Given the description of an element on the screen output the (x, y) to click on. 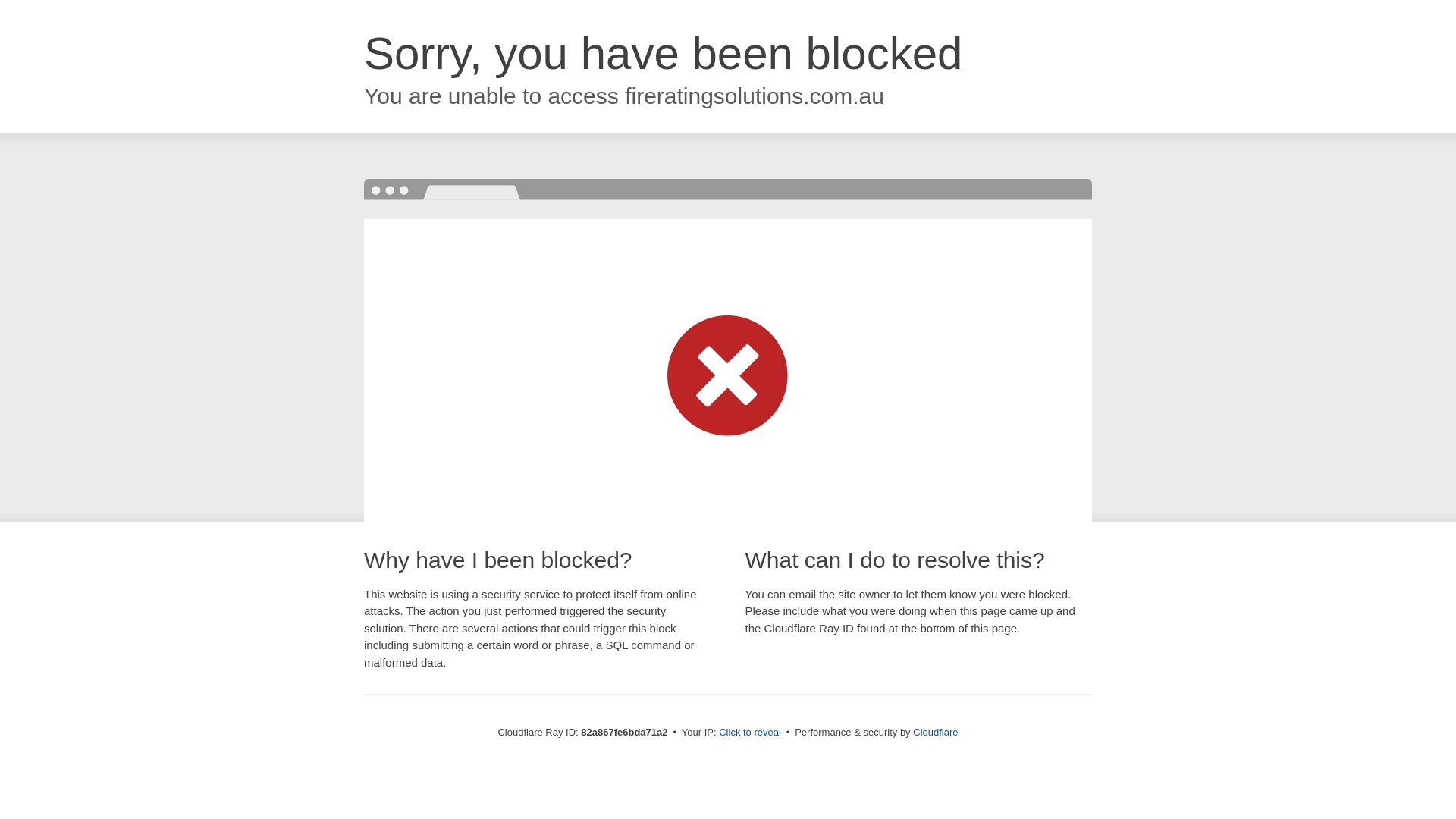
Cloudflare Element type: text (935, 731)
Click to reveal Element type: text (749, 732)
